Given the description of an element on the screen output the (x, y) to click on. 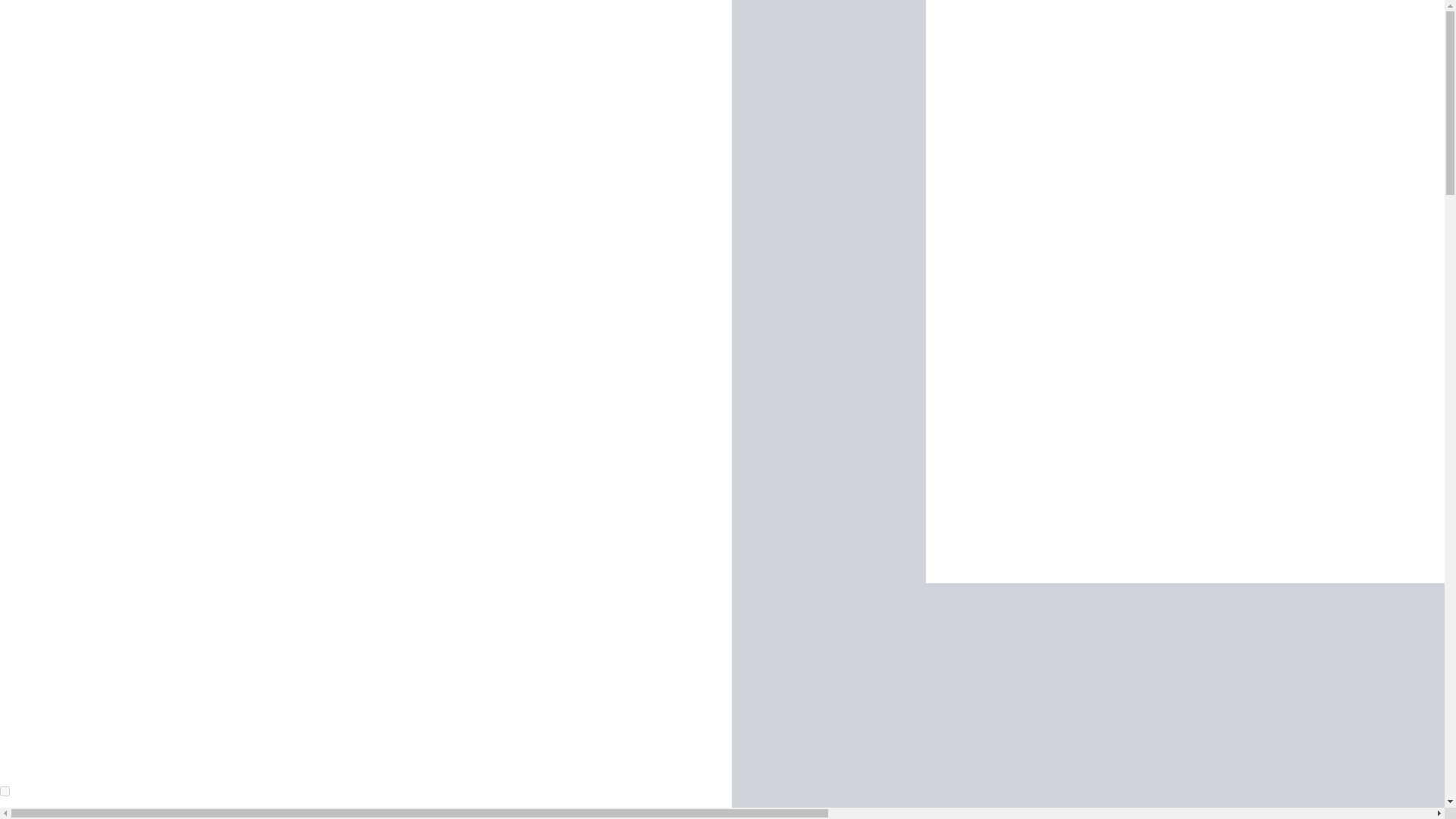
Facebook (827, 97)
Call Us (827, 486)
on (5, 790)
Twitter (827, 291)
